Given the description of an element on the screen output the (x, y) to click on. 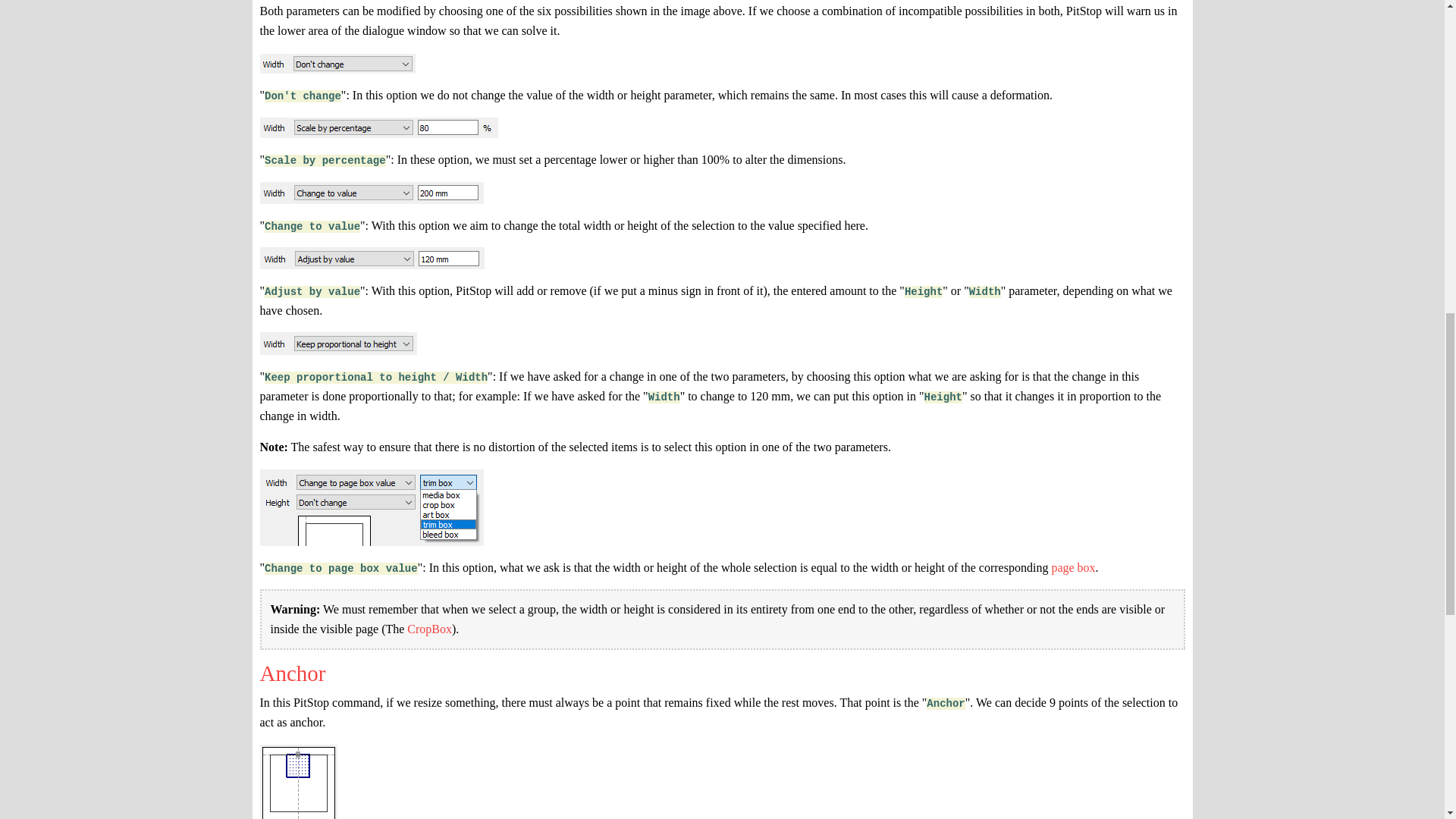
CropBox (429, 628)
Page boxes in PDF (429, 628)
page box (1072, 567)
Page boxes in PDF (1072, 567)
